Given the description of an element on the screen output the (x, y) to click on. 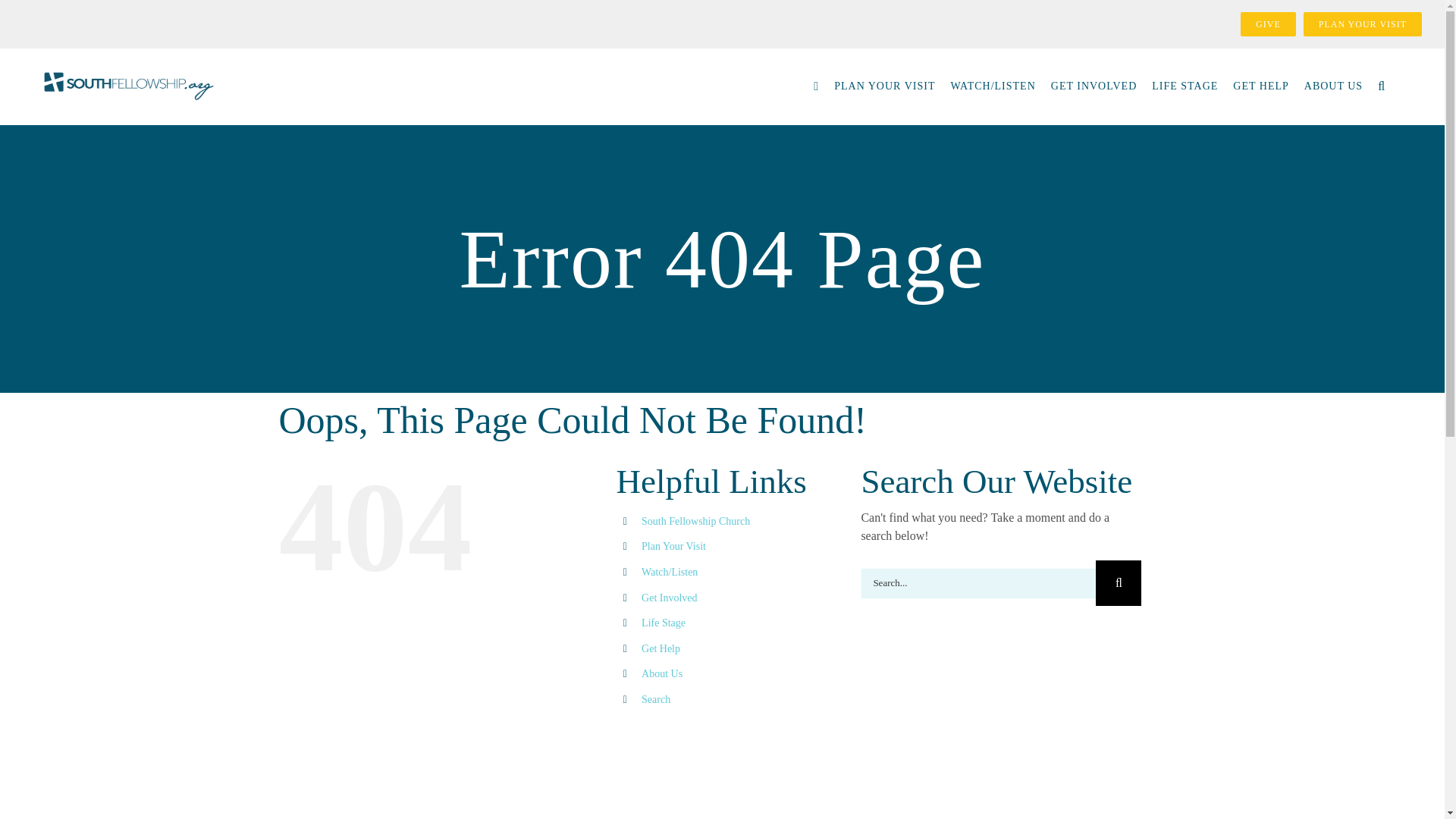
LIFE STAGE (1184, 86)
GIVE (1267, 24)
GET HELP (1260, 86)
ABOUT US (1333, 86)
PLAN YOUR VISIT (1362, 24)
PLAN YOUR VISIT (884, 86)
GET INVOLVED (1093, 86)
